Given the description of an element on the screen output the (x, y) to click on. 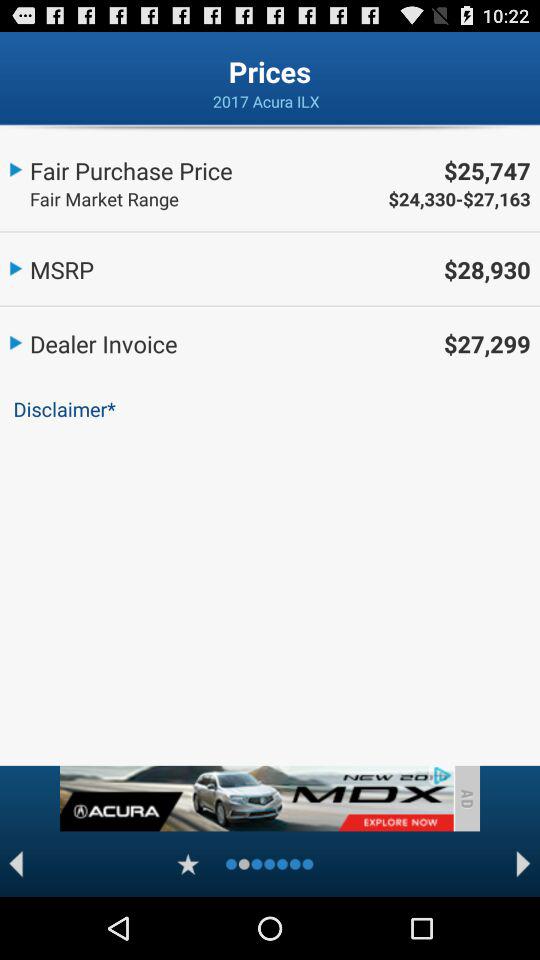
advertising star option (188, 864)
